Given the description of an element on the screen output the (x, y) to click on. 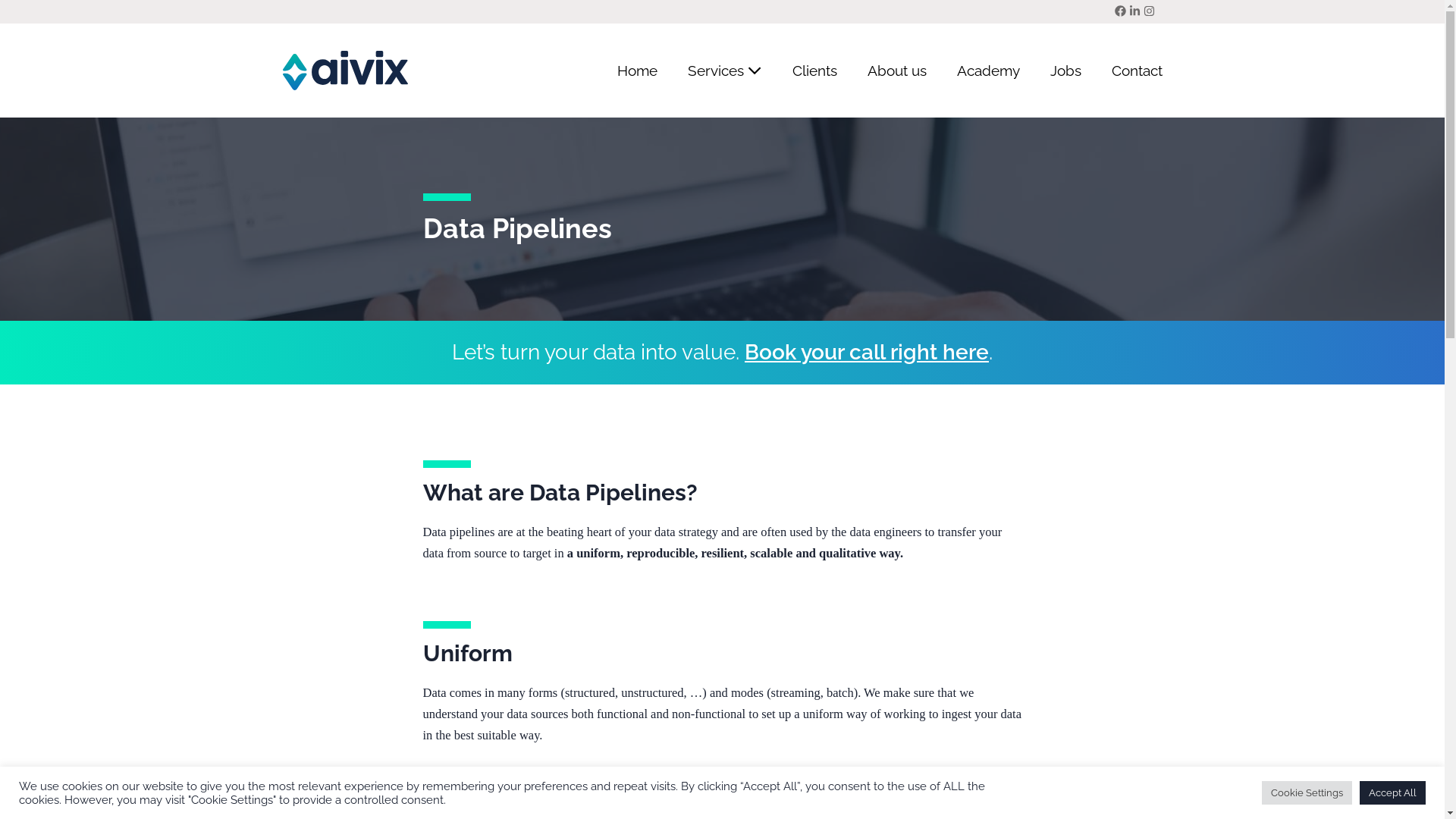
Jobs Element type: text (1064, 70)
Aivix Element type: hover (344, 69)
Accept All Element type: text (1392, 792)
Contact Element type: text (1129, 70)
Services Element type: text (723, 70)
Clients Element type: text (813, 70)
About us Element type: text (896, 70)
Cookie Settings Element type: text (1306, 792)
Book your call right here Element type: text (866, 351)
Home Element type: text (637, 70)
Academy Element type: text (988, 70)
